Given the description of an element on the screen output the (x, y) to click on. 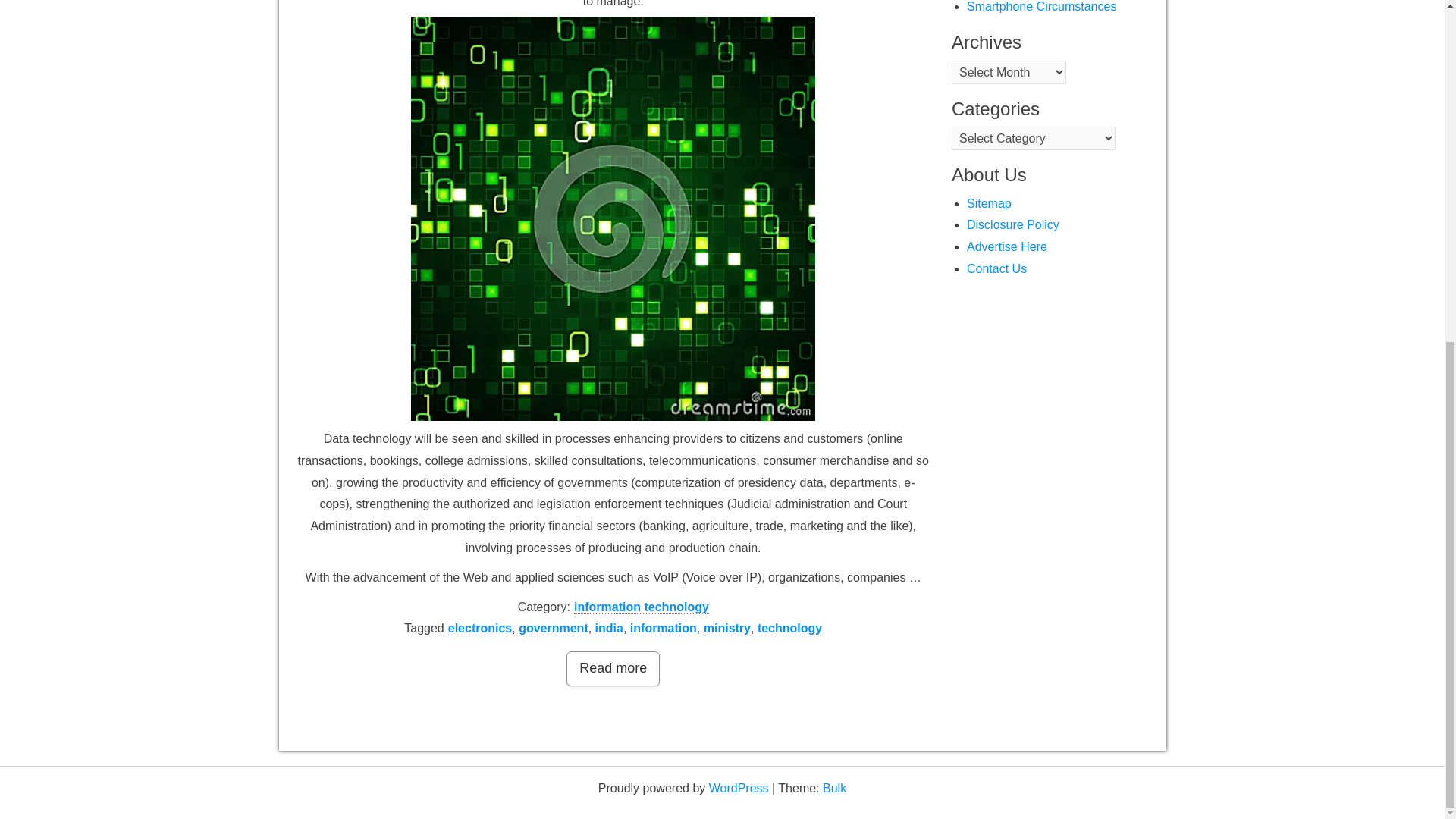
information (663, 628)
technology (789, 628)
electronics (480, 628)
ministry (727, 628)
Read more (612, 668)
information technology (641, 607)
government (553, 628)
india (609, 628)
